Given the description of an element on the screen output the (x, y) to click on. 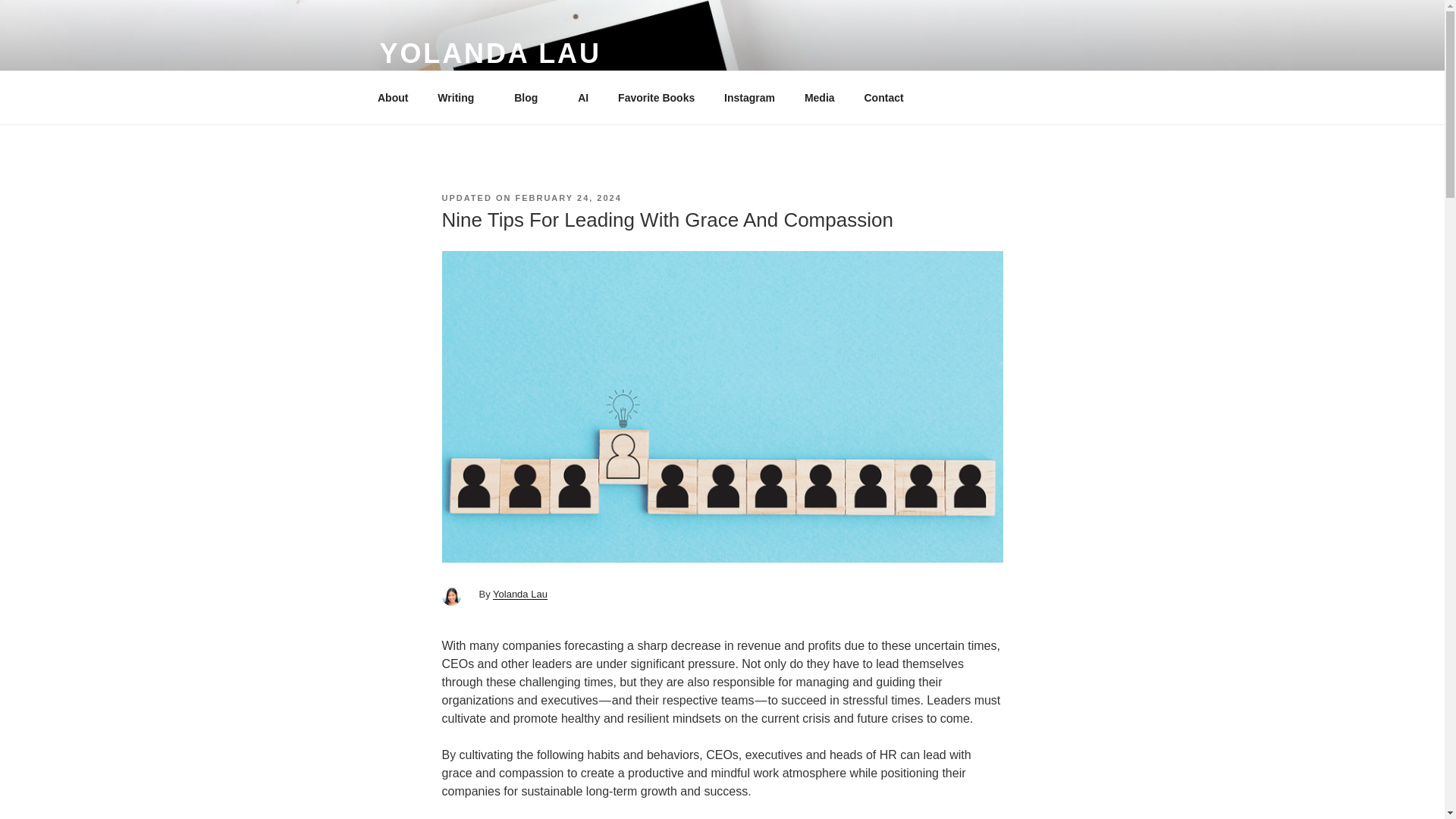
Instagram (750, 97)
AI (583, 97)
Media (818, 97)
Writing (461, 97)
Blog (531, 97)
About (392, 97)
Favorite Books (656, 97)
Contact (883, 97)
YOLANDA LAU (488, 52)
Yolanda Lau (520, 593)
